Given the description of an element on the screen output the (x, y) to click on. 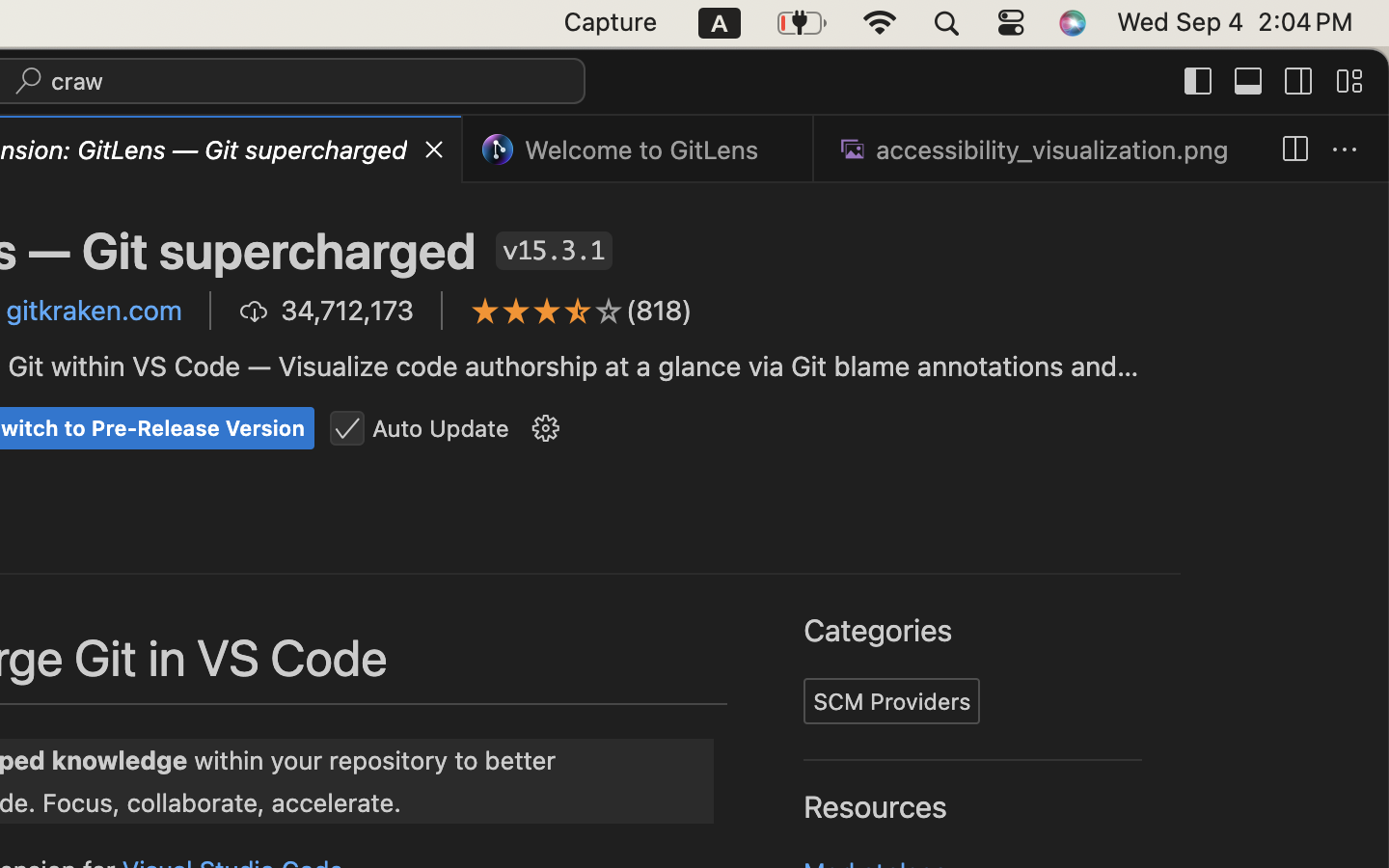
powerful Element type: AXStaticText (879, 422)
0 Welcome to GitLens  Element type: AXRadioButton (639, 149)
SCM Providers Element type: AXGroup (892, 701)
 Element type: AXCheckBox (1198, 80)
write Element type: AXStaticText (582, 360)
